Given the description of an element on the screen output the (x, y) to click on. 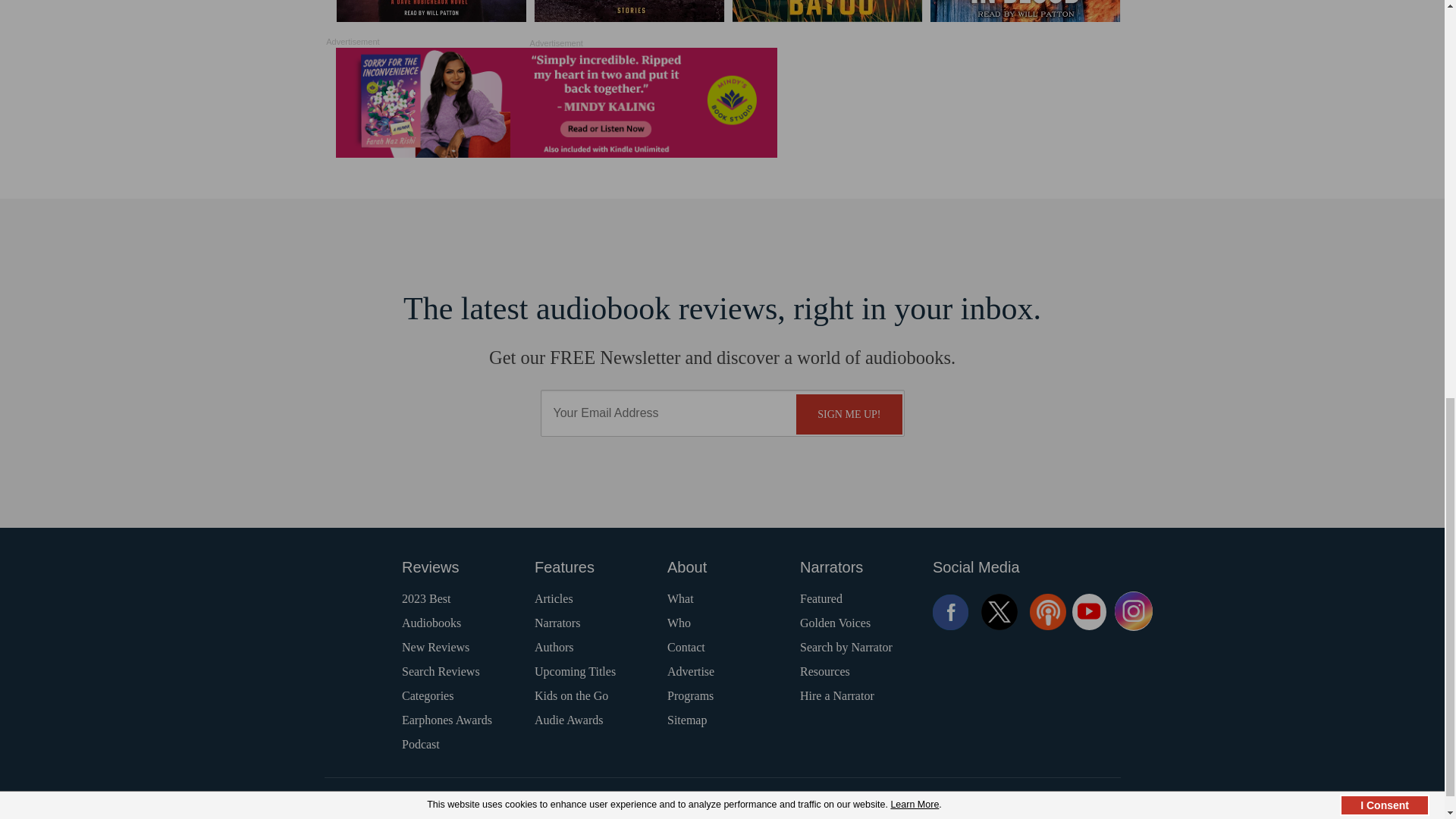
Twitter (999, 611)
Sign Me Up! (848, 413)
Facebook (951, 611)
Podcast (1047, 611)
Instagram (1134, 611)
YouTube (1088, 611)
